Given the description of an element on the screen output the (x, y) to click on. 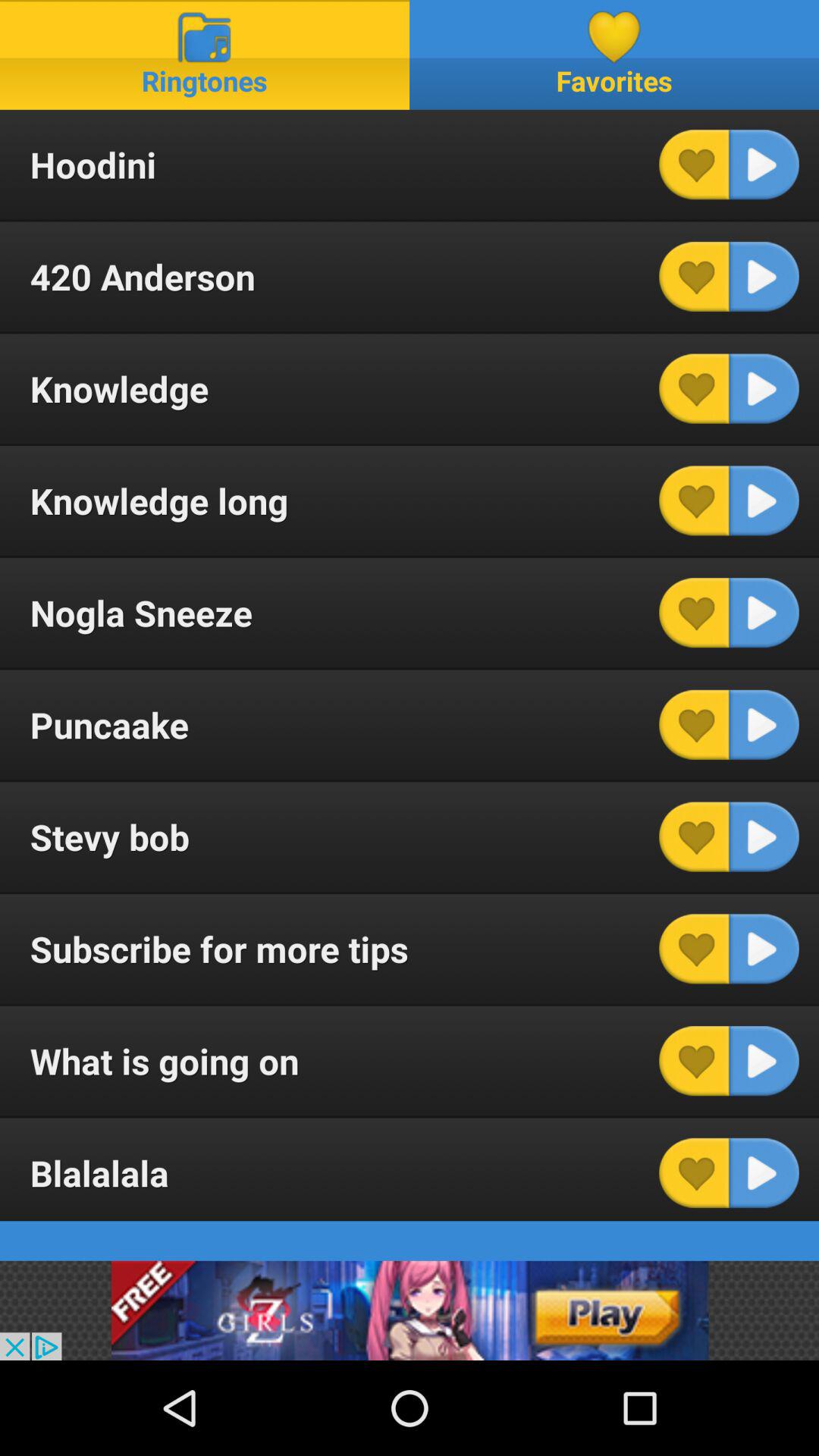
play item (764, 1173)
